Given the description of an element on the screen output the (x, y) to click on. 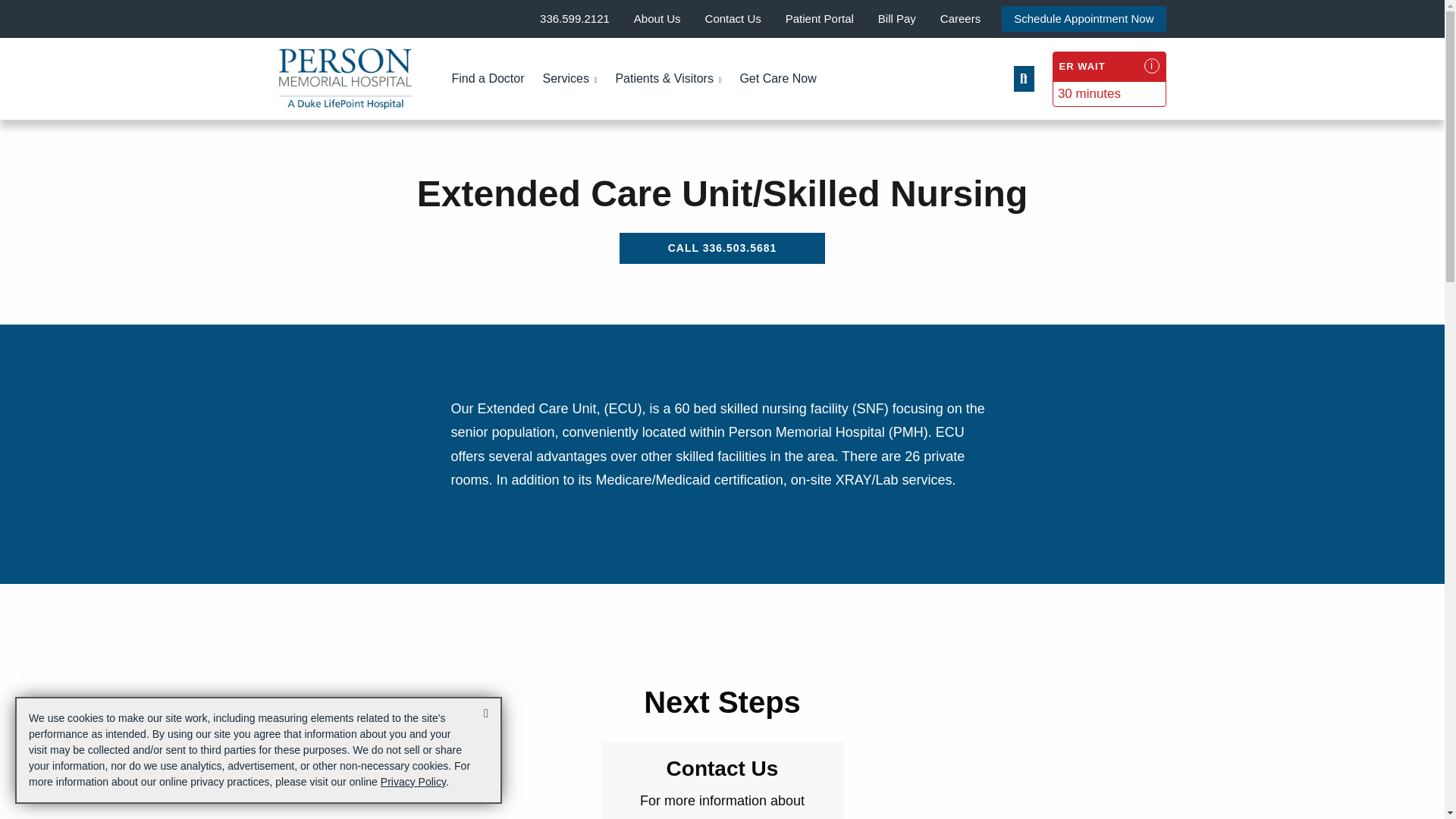
Find a Doctor (487, 78)
About Us (657, 18)
336.599.2121 (574, 18)
Contact Us (732, 18)
Services (569, 78)
Careers (960, 18)
Schedule Appointment Now (1083, 18)
Bill Pay (896, 18)
Patient Portal (820, 18)
